Given the description of an element on the screen output the (x, y) to click on. 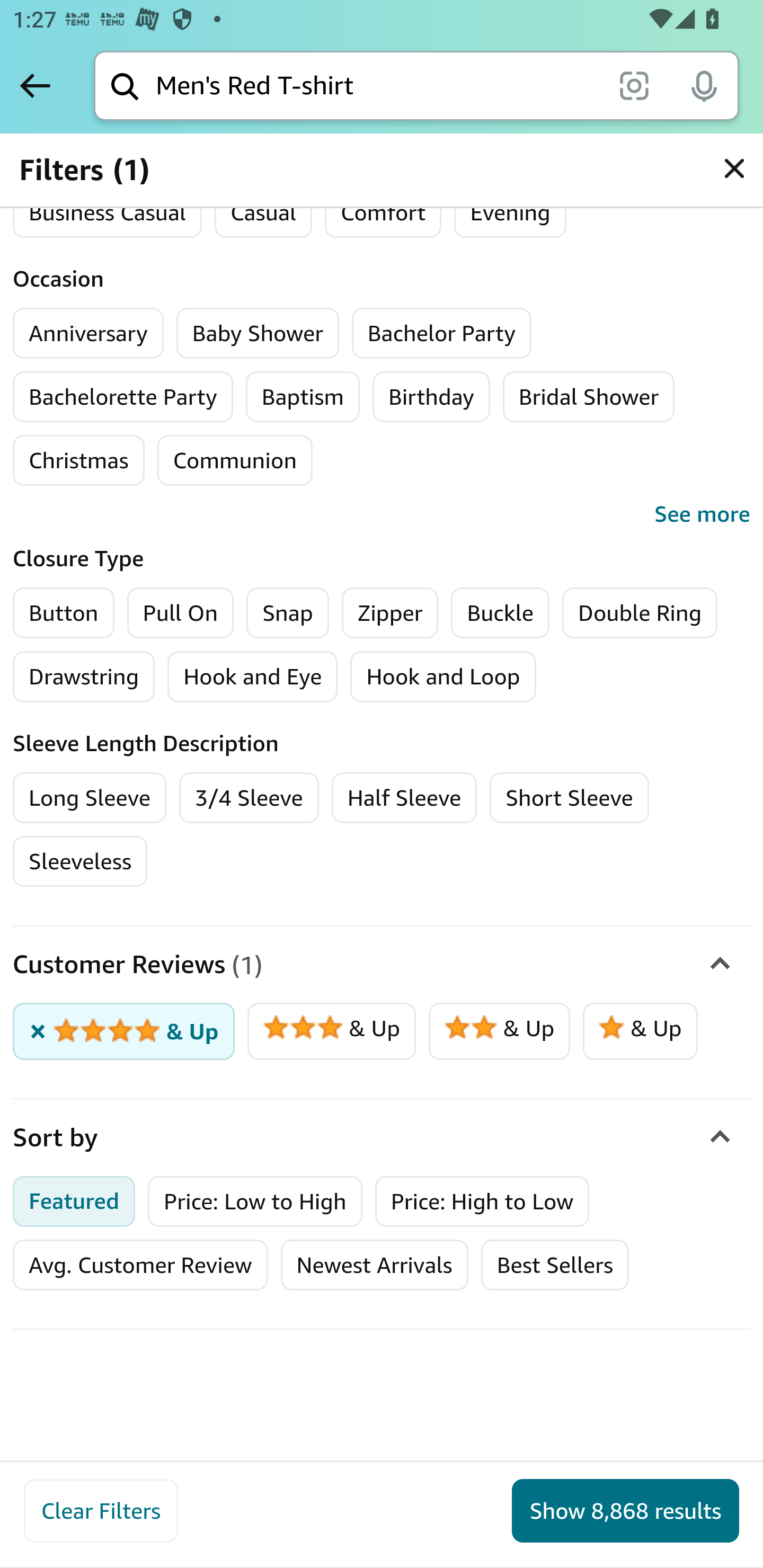
Back (35, 85)
scan it (633, 85)
Business Casual (107, 212)
Casual (262, 212)
Comfort (382, 212)
Evening (510, 212)
Anniversary (88, 333)
Baby Shower (257, 333)
Bachelor Party (441, 333)
Bachelorette Party (122, 396)
Baptism (302, 396)
Birthday (431, 396)
Bridal Shower (588, 396)
Christmas (78, 460)
Communion (233, 460)
See more, Occasion See more (381, 514)
Button (63, 612)
Pull On (180, 612)
Snap (287, 612)
Zipper (389, 612)
Buckle (500, 612)
Double Ring (639, 612)
Drawstring (83, 676)
Hook and Eye (252, 676)
Hook and Loop (443, 676)
Long Sleeve (89, 797)
3/4 Sleeve (248, 797)
Half Sleeve (404, 797)
Short Sleeve (569, 797)
Sleeveless (80, 861)
Customer Reviews (1) (381, 965)
× 4 Stars & Up × 4 Stars & Up (123, 1032)
3 Stars & Up (331, 1032)
2 Stars & Up (498, 1032)
1 Star & Up (639, 1032)
Sort by (381, 1138)
Price: Low to High (255, 1201)
Price: High to Low (481, 1201)
Avg. Customer Review (140, 1266)
Newest Arrivals (374, 1266)
Best Sellers (554, 1266)
Clear Filters (100, 1510)
Show 8,868 results (625, 1510)
